Given the description of an element on the screen output the (x, y) to click on. 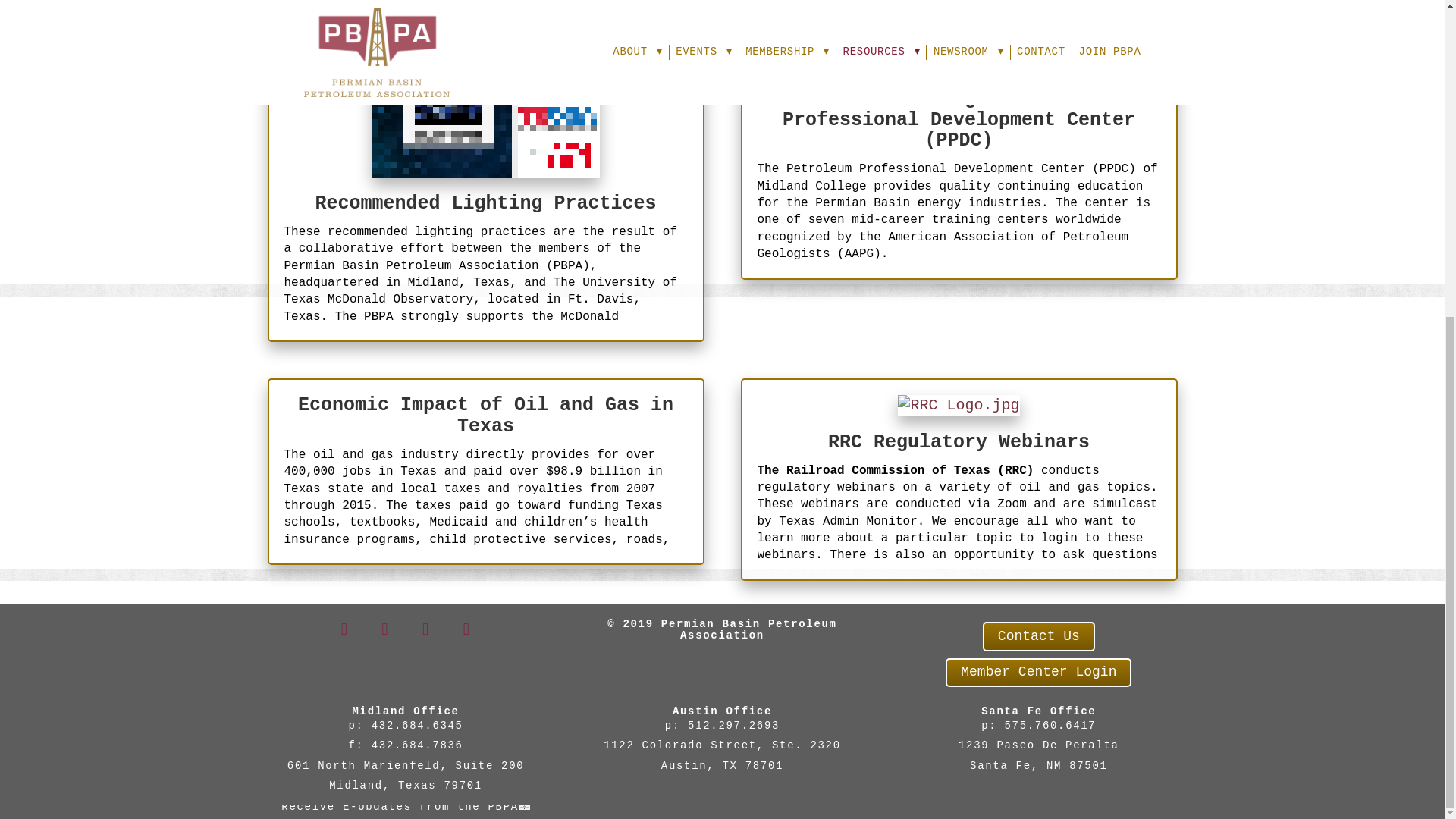
Recommended Lighting Practices (485, 203)
